Given the description of an element on the screen output the (x, y) to click on. 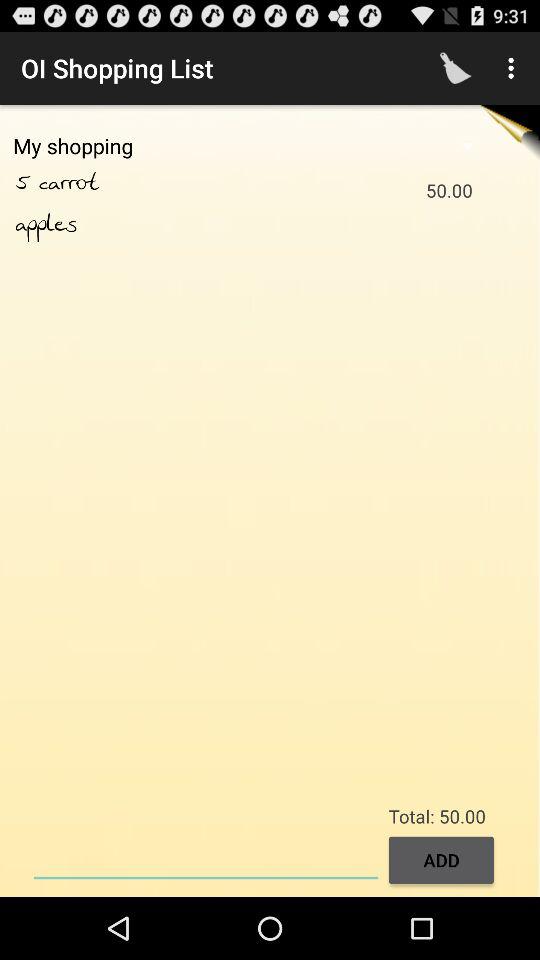
turn on item next to the 50.00 (90, 183)
